Given the description of an element on the screen output the (x, y) to click on. 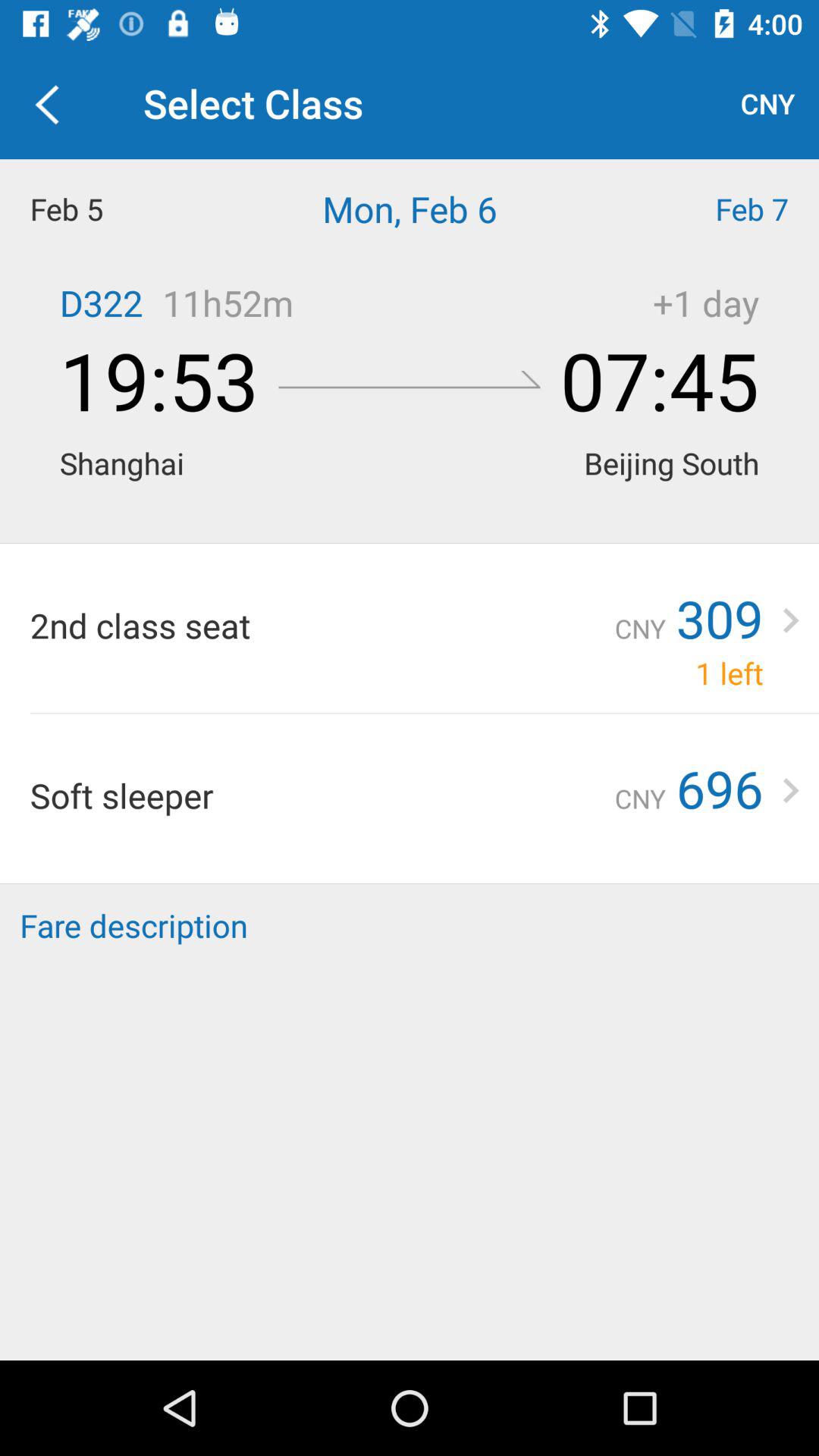
tap 309 icon (719, 617)
